Given the description of an element on the screen output the (x, y) to click on. 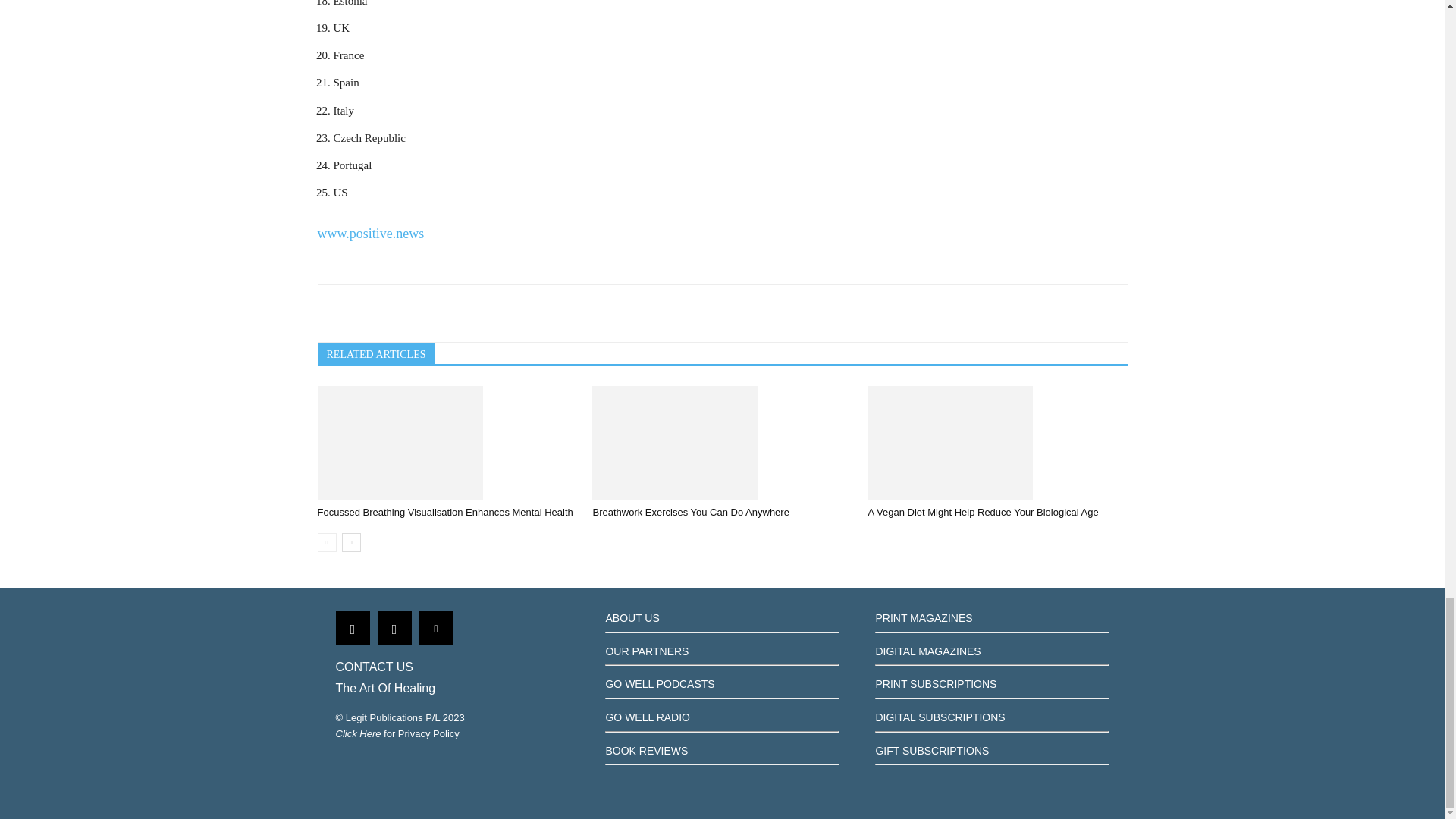
Focussed Breathing Visualisation  Enhances Mental Health (446, 442)
